Given the description of an element on the screen output the (x, y) to click on. 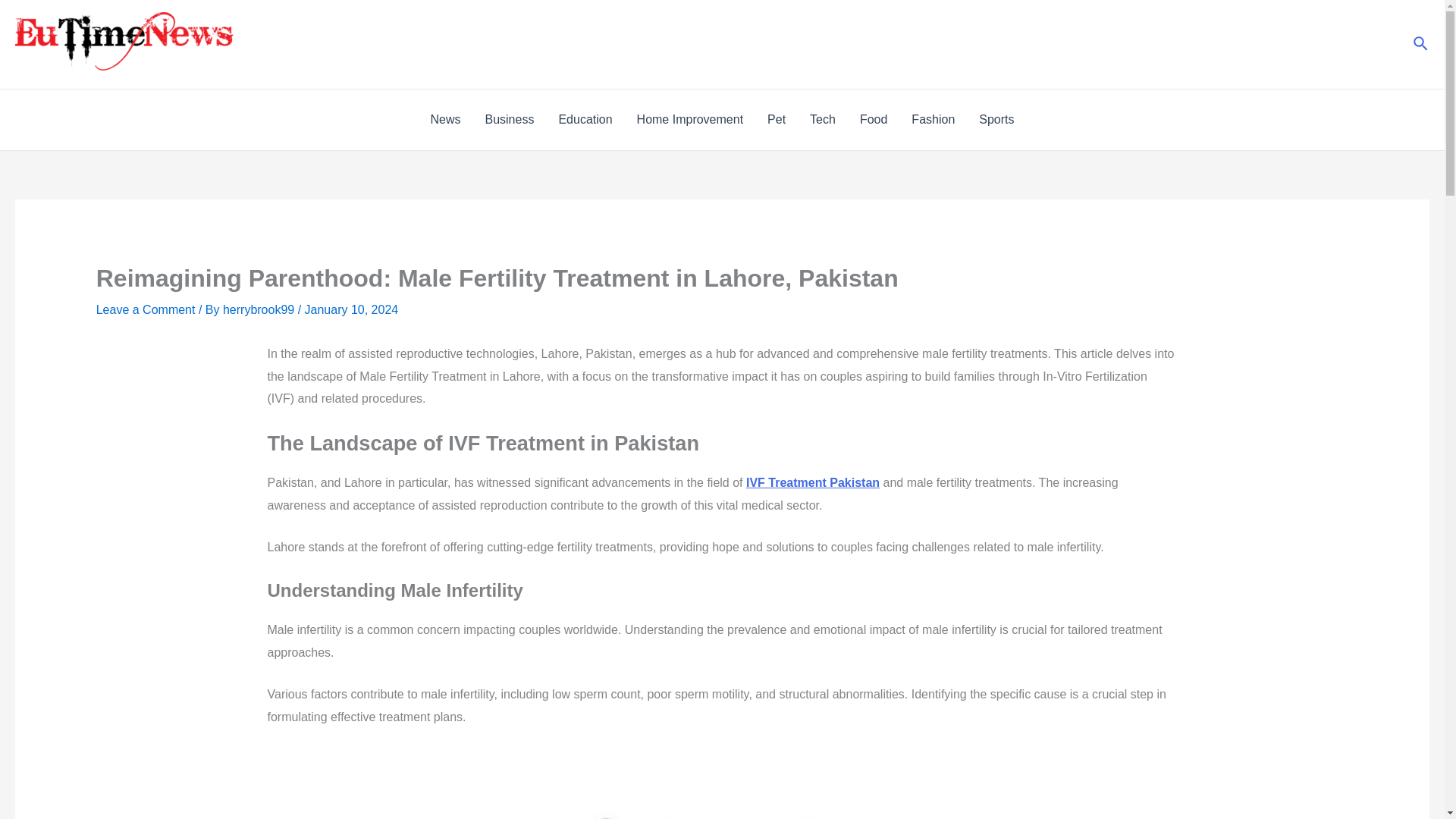
News (444, 119)
Business (508, 119)
Pet (776, 119)
Food (873, 119)
herrybrook99 (260, 309)
Tech (822, 119)
Education (585, 119)
IVF Treatment Pakistan (812, 481)
Sports (996, 119)
Search (1421, 44)
Fashion (932, 119)
View all posts by herrybrook99 (260, 309)
Home Improvement (689, 119)
Leave a Comment (145, 309)
